Given the description of an element on the screen output the (x, y) to click on. 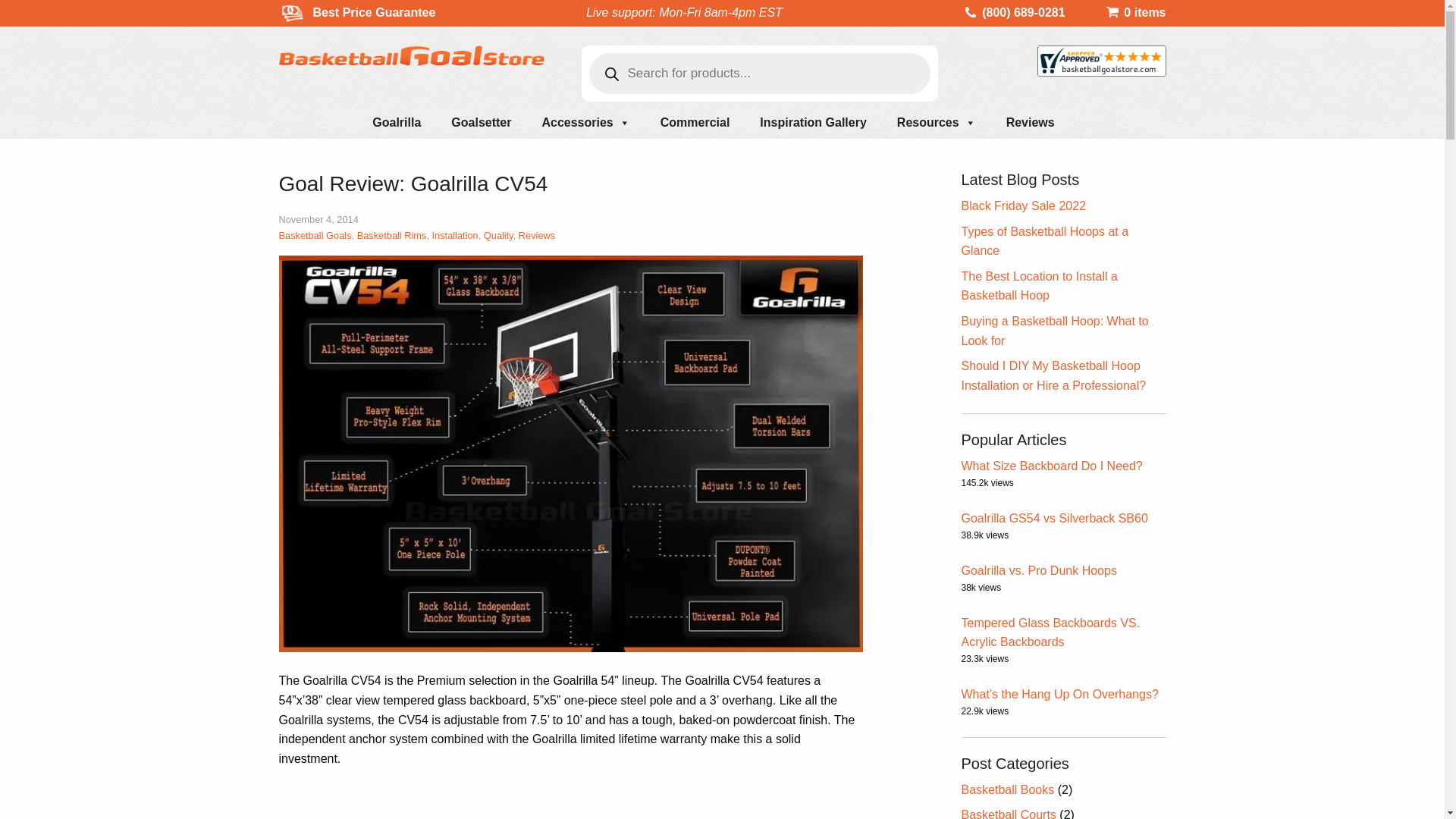
Resources (936, 122)
Inspiration Gallery (812, 122)
Commercial (695, 122)
Goalrilla (395, 122)
Reviews (1030, 122)
Best Price Guarantee (365, 11)
Goalsetter (480, 122)
0 items (1135, 11)
Accessories (585, 122)
